Given the description of an element on the screen output the (x, y) to click on. 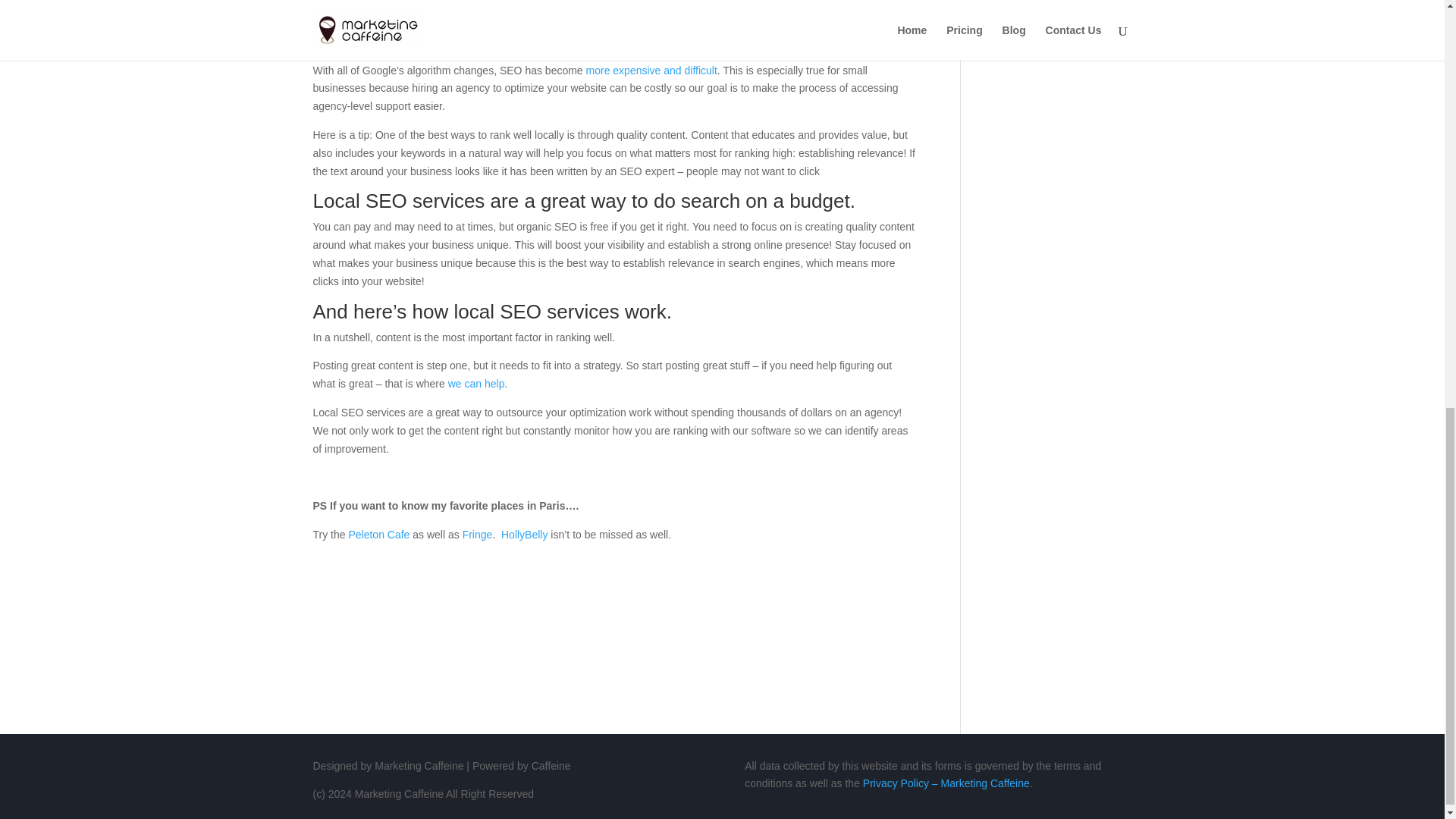
more expensive and difficult (651, 70)
Fringe (478, 534)
HollyBelly (523, 534)
Peleton Cafe (378, 534)
we can help (476, 383)
